Given the description of an element on the screen output the (x, y) to click on. 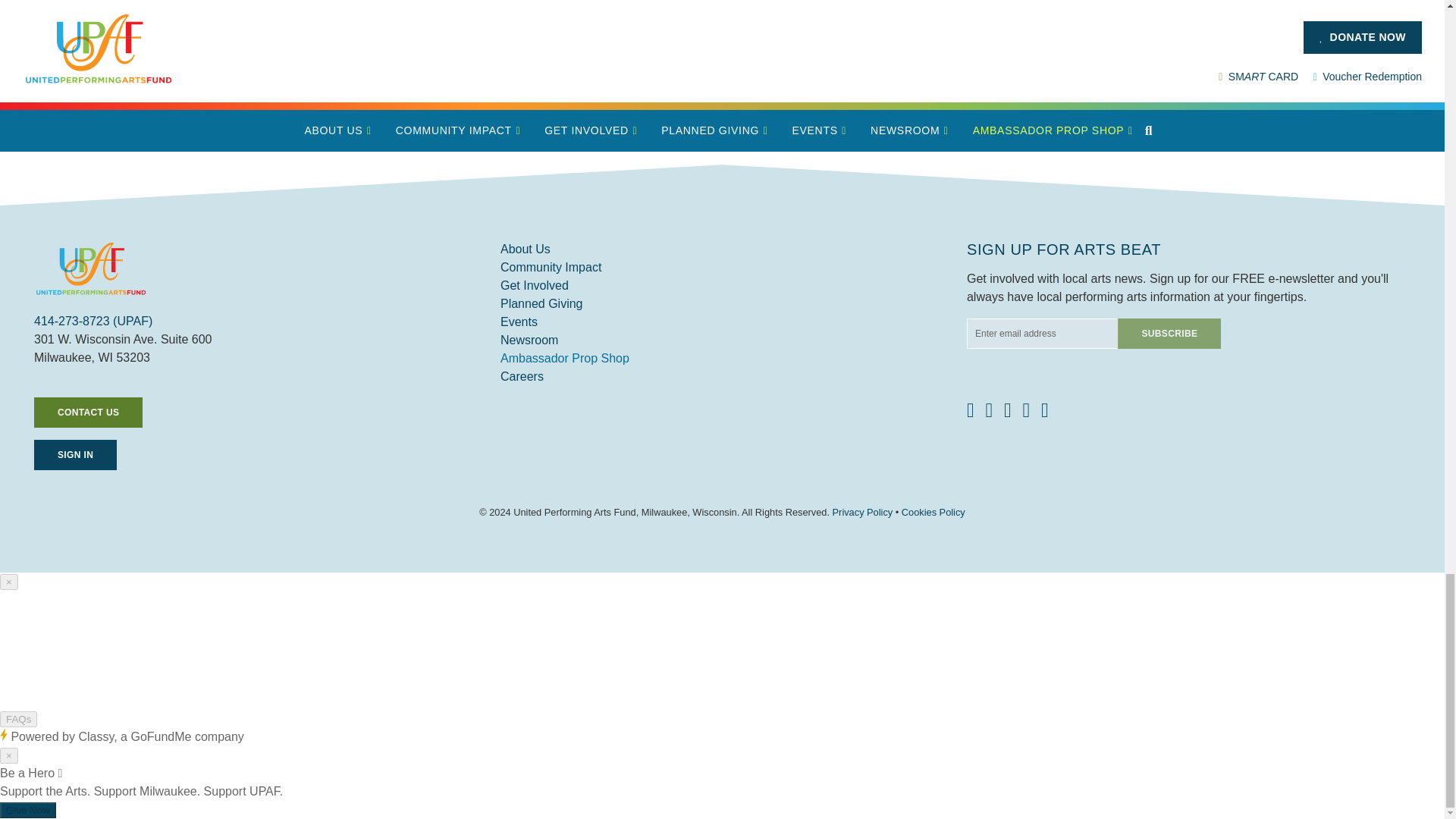
Subscribe (1169, 333)
Enter email address (1042, 333)
